Given the description of an element on the screen output the (x, y) to click on. 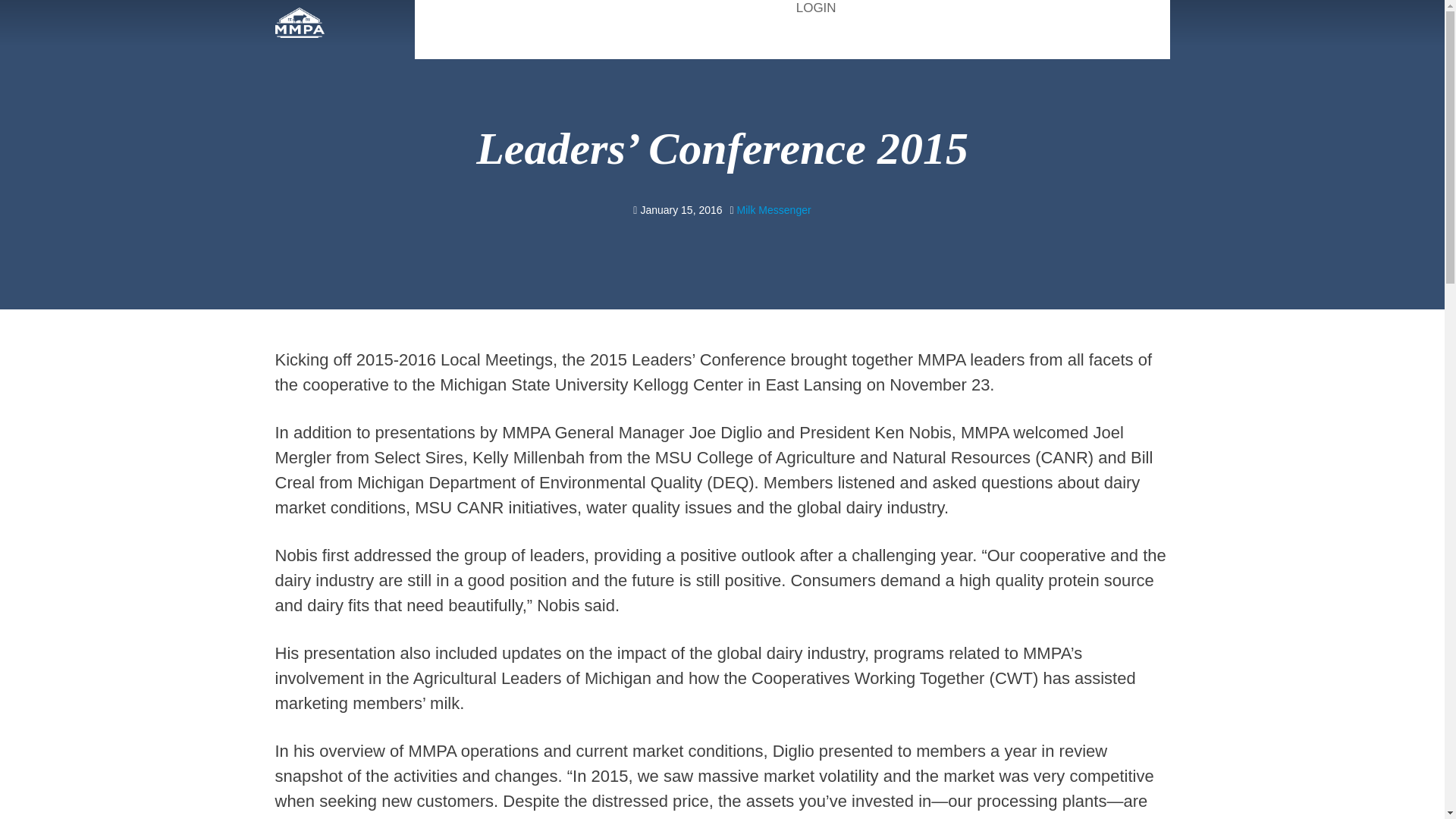
FARM SUPPLY STORE (673, 7)
Milk Messenger (773, 209)
NEWSROOM (1004, 40)
ABOUT (486, 40)
CAREERS (596, 40)
CONTACT (1132, 40)
PRODUCTS (721, 40)
LOGIN (816, 9)
MEMBERSHIP (860, 40)
